Given the description of an element on the screen output the (x, y) to click on. 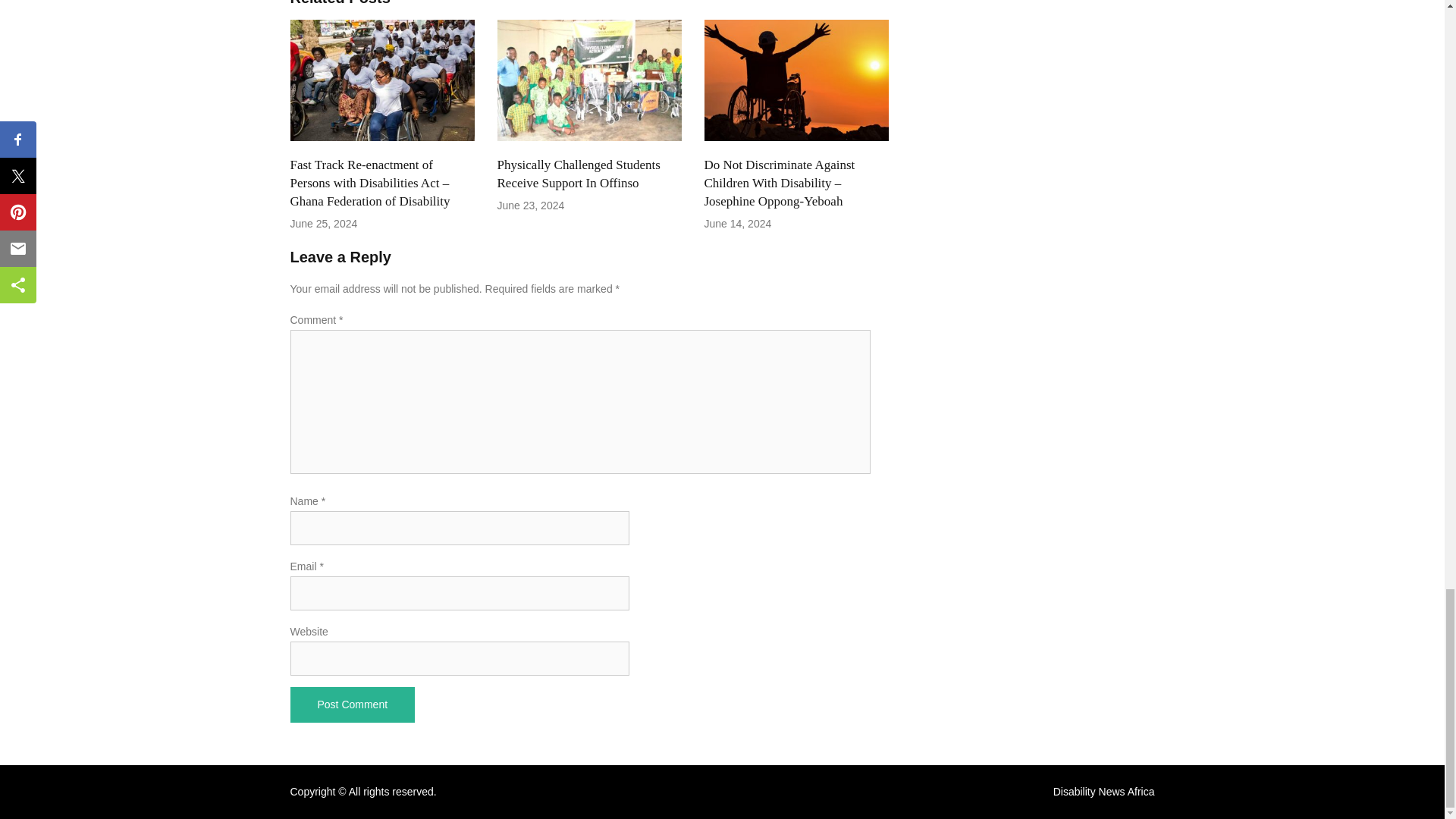
Physically Challenged Students Receive Support In Offinso (589, 79)
Physically Challenged Students Receive Support In Offinso (579, 174)
Post Comment (351, 704)
